Given the description of an element on the screen output the (x, y) to click on. 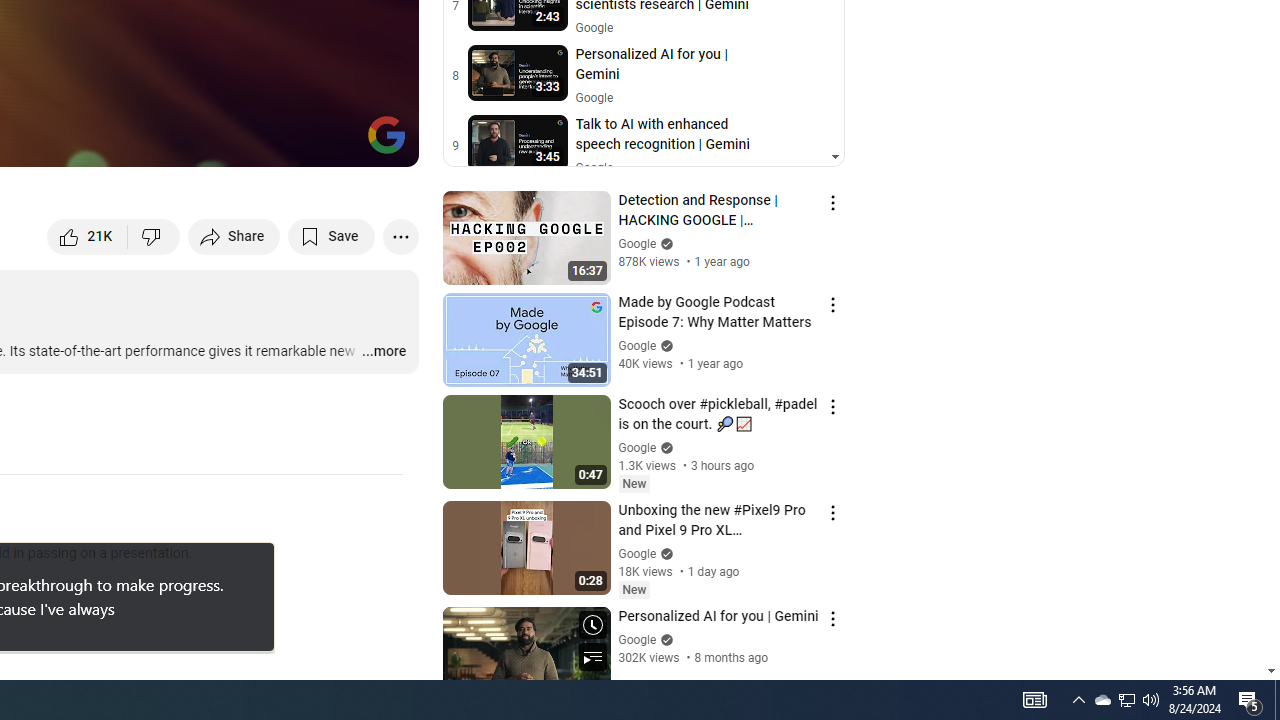
Share (234, 236)
Channel watermark (386, 134)
Dislike this video (154, 236)
Save to playlist (331, 236)
